Given the description of an element on the screen output the (x, y) to click on. 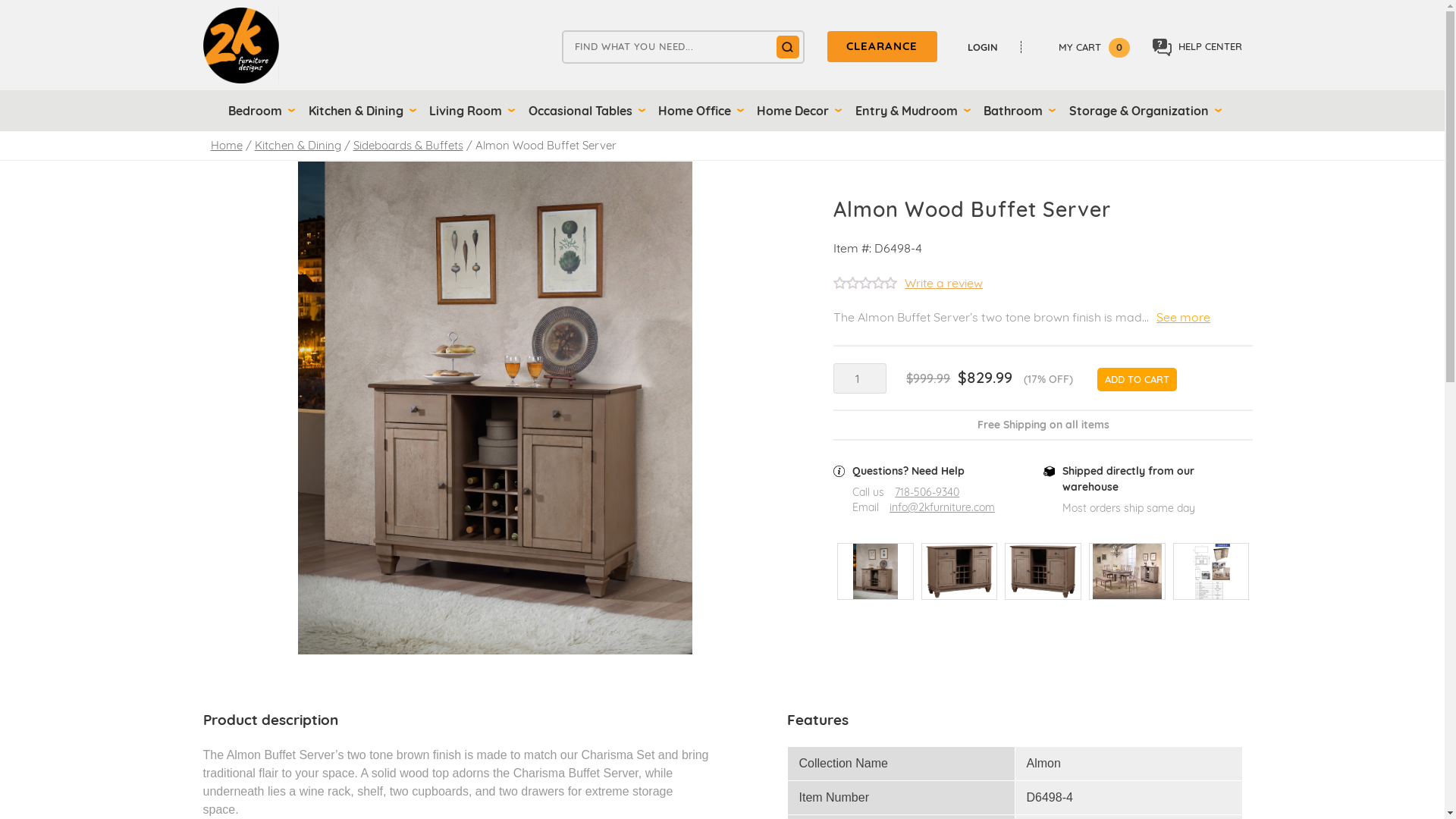
Kitchen & Dining Element type: text (359, 110)
Living Room Element type: text (469, 110)
CLEARANCE Element type: text (881, 46)
Bedroom Element type: text (258, 110)
Kitchen & Dining Element type: text (297, 145)
Entry & Mudroom Element type: text (909, 110)
Storage & Organization Element type: text (1142, 110)
Bathroom Element type: text (1016, 110)
info@2kfurniture.com Element type: text (941, 507)
MY CART0 Element type: text (1083, 46)
See more Element type: text (1183, 316)
Write a review Element type: text (907, 284)
Write a review Element type: text (943, 282)
Home Decor Element type: text (796, 110)
LOGIN Element type: text (990, 46)
Home Element type: text (226, 145)
Occasional Tables Element type: text (583, 110)
Sideboards & Buffets Element type: text (408, 145)
718-506-9340 Element type: text (926, 492)
HELP CENTER Element type: text (1197, 46)
ADD TO CART Element type: text (1136, 379)
Home Office Element type: text (698, 110)
